Given the description of an element on the screen output the (x, y) to click on. 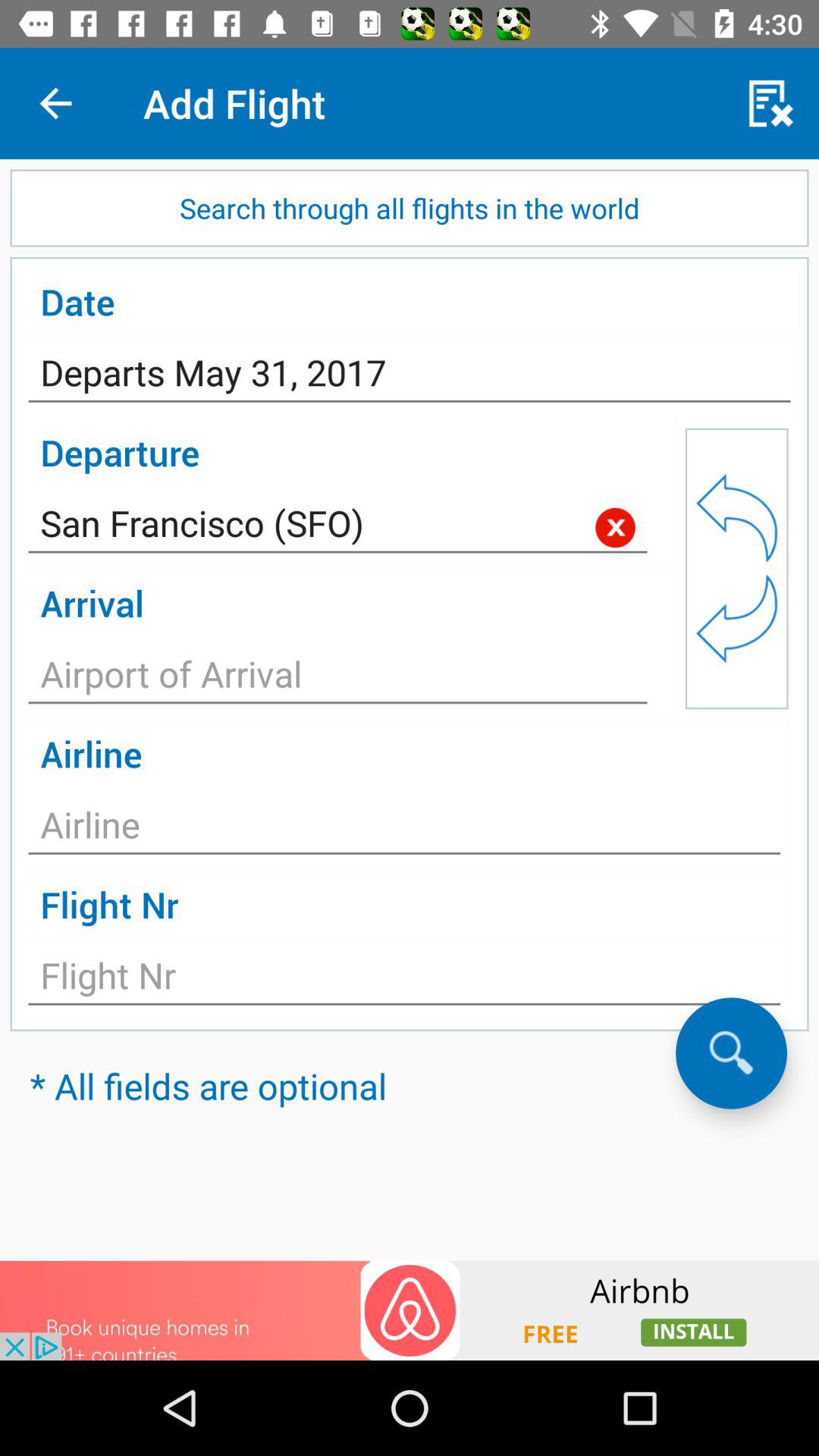
search option (731, 1053)
